Given the description of an element on the screen output the (x, y) to click on. 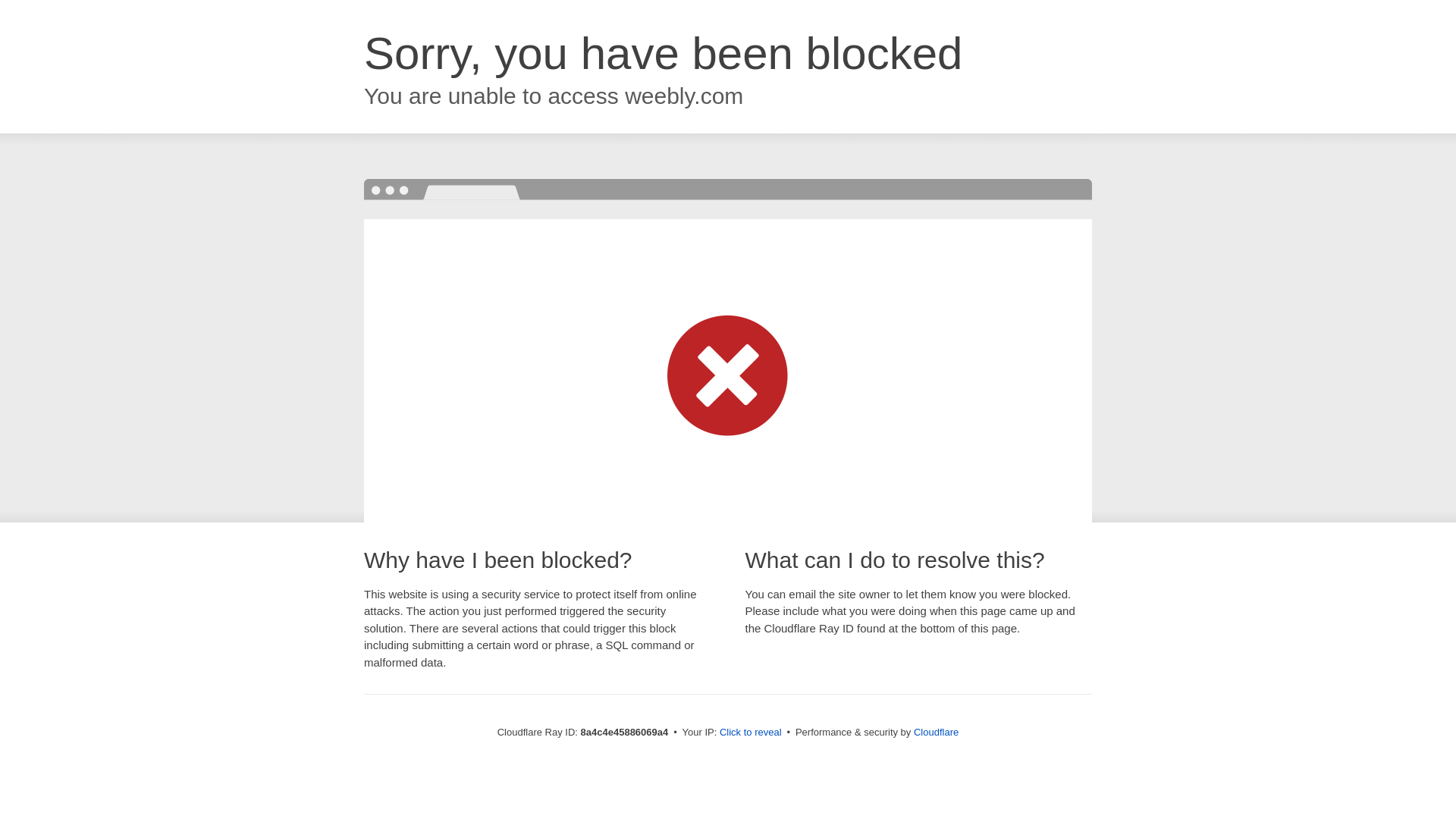
Click to reveal (750, 732)
Cloudflare (936, 731)
